Given the description of an element on the screen output the (x, y) to click on. 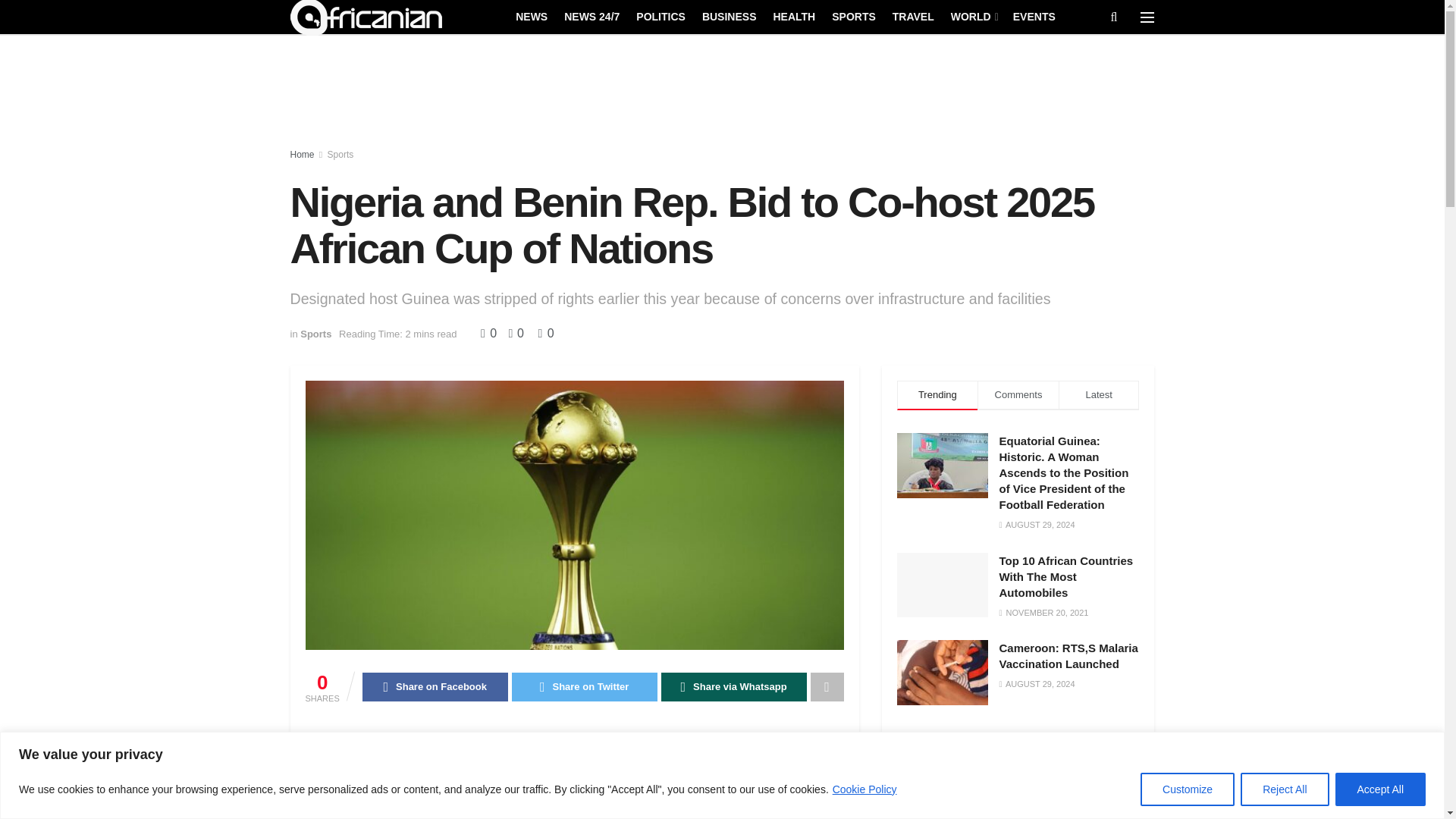
Sports (340, 154)
SPORTS (853, 16)
Customize (1187, 788)
EVENTS (1034, 16)
Home (301, 154)
BUSINESS (729, 16)
HEALTH (794, 16)
Advertisement (722, 92)
POLITICS (660, 16)
Accept All (1380, 788)
